Given the description of an element on the screen output the (x, y) to click on. 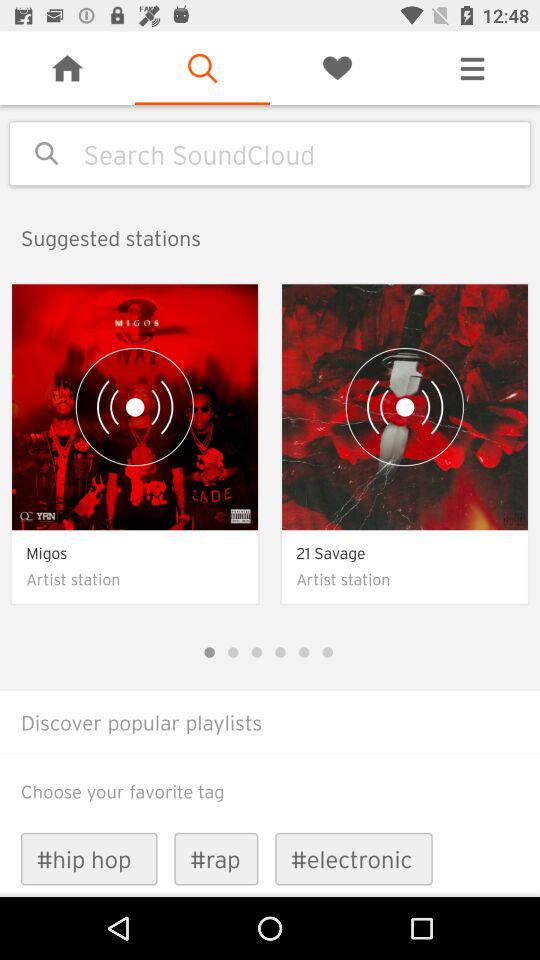
click icon to the left of #rap icon (88, 858)
